Given the description of an element on the screen output the (x, y) to click on. 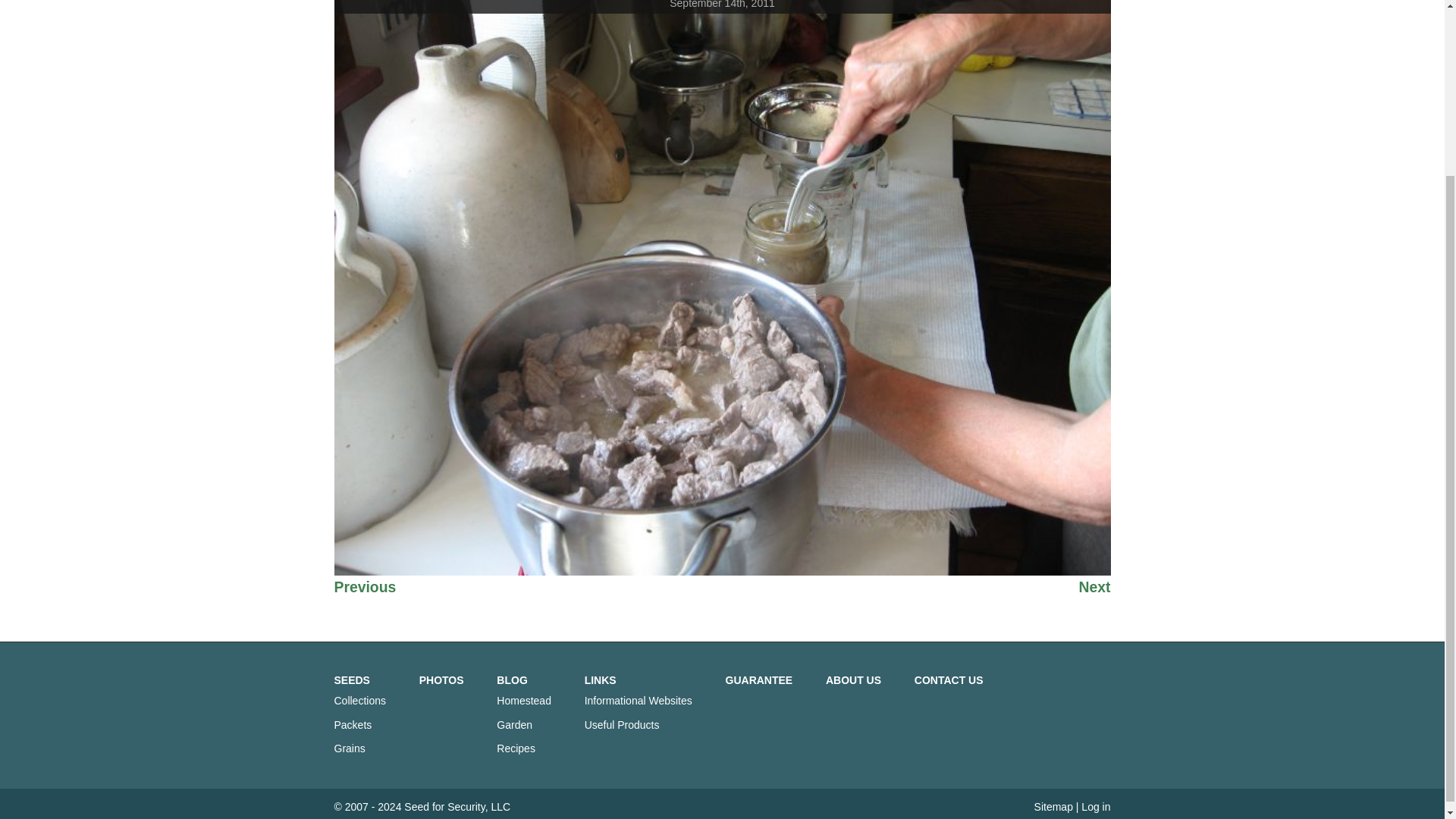
Collections (359, 700)
PHOTOS (441, 680)
Homestead (523, 700)
CONTACT US (949, 680)
Packets (352, 725)
Log in (1095, 806)
SEEDS (351, 680)
BLOG (511, 680)
Next (1094, 593)
GUARANTEE (759, 680)
Informational Websites (639, 700)
Previous (364, 593)
ABOUT US (852, 680)
Recipes (515, 748)
Useful Products (622, 725)
